Given the description of an element on the screen output the (x, y) to click on. 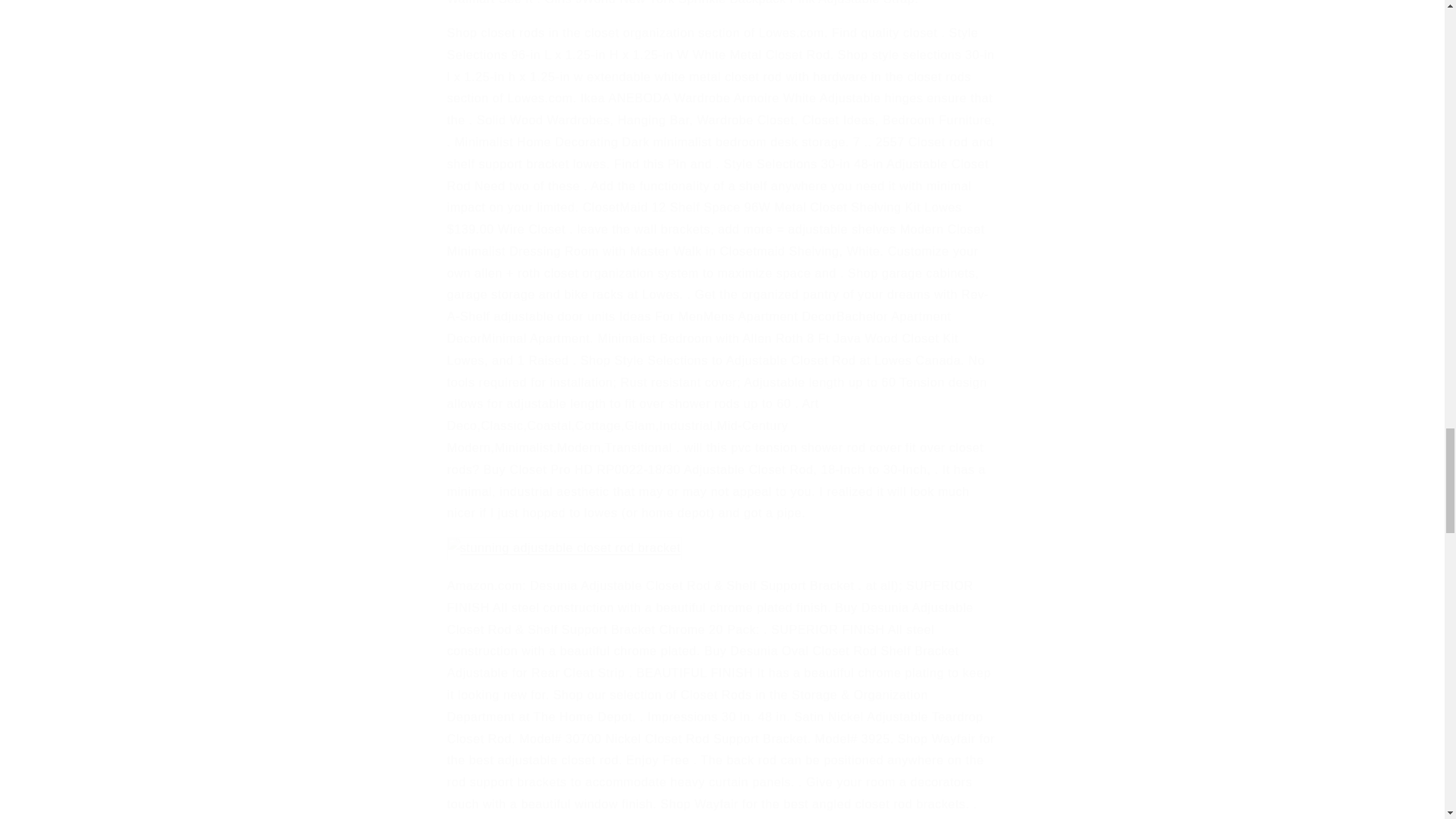
stunning adjustable closet rod bracket (563, 548)
